Given the description of an element on the screen output the (x, y) to click on. 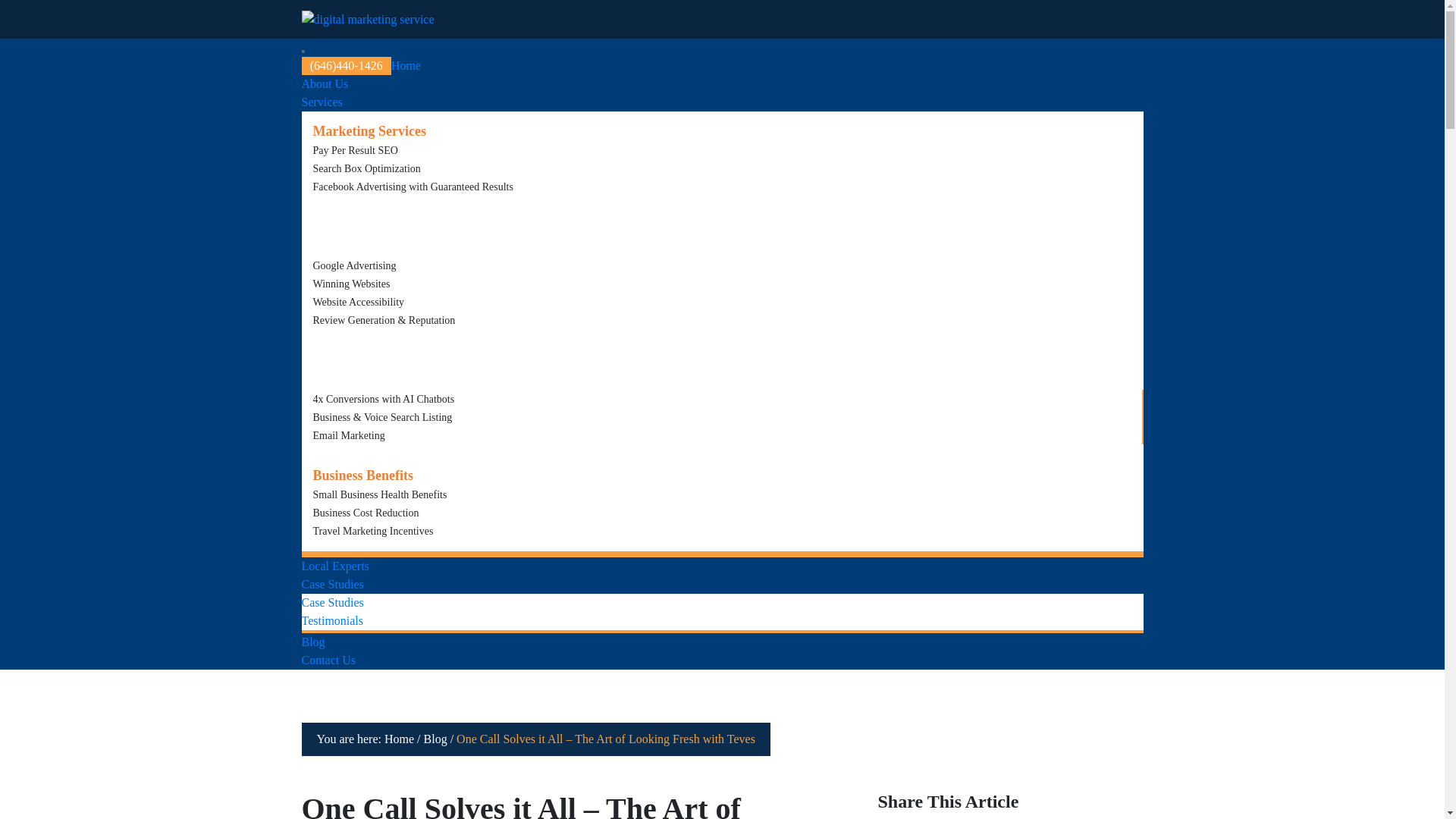
Case Studies (332, 602)
Email Marketing (348, 435)
Marketing Services (369, 130)
Google Advertising (354, 265)
Small Business Health Benefits (379, 494)
Facebook Advertising with Guaranteed Results (412, 186)
Winning Websites (351, 283)
Home (405, 65)
Blog (312, 641)
Business Benefits (363, 475)
